Given the description of an element on the screen output the (x, y) to click on. 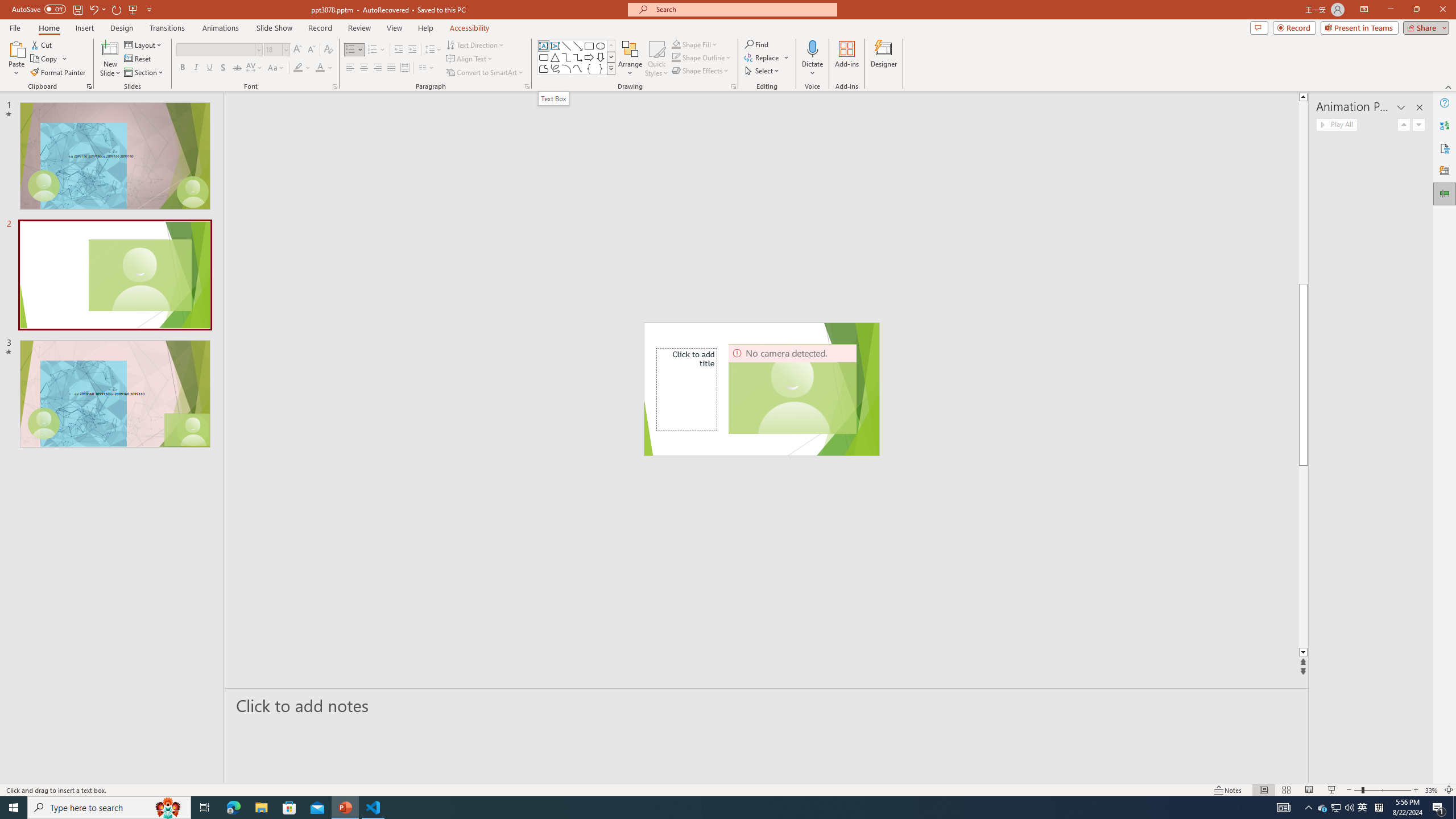
Slide Notes (766, 705)
